Given the description of an element on the screen output the (x, y) to click on. 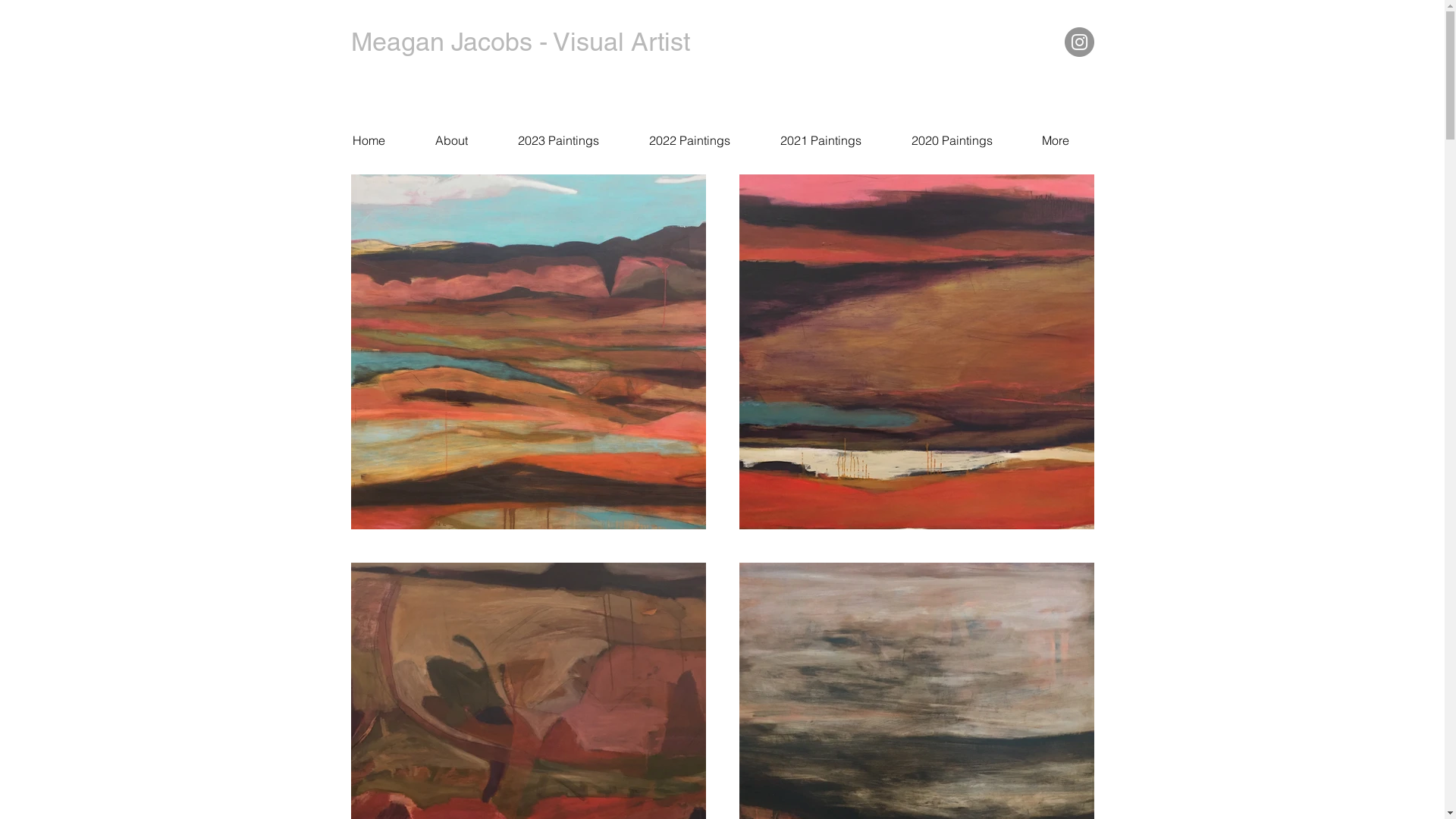
2022 Paintings Element type: text (688, 140)
Home Element type: text (368, 140)
2020 Paintings Element type: text (950, 140)
About Element type: text (450, 140)
2021 Paintings Element type: text (820, 140)
2023 Paintings Element type: text (558, 140)
